Given the description of an element on the screen output the (x, y) to click on. 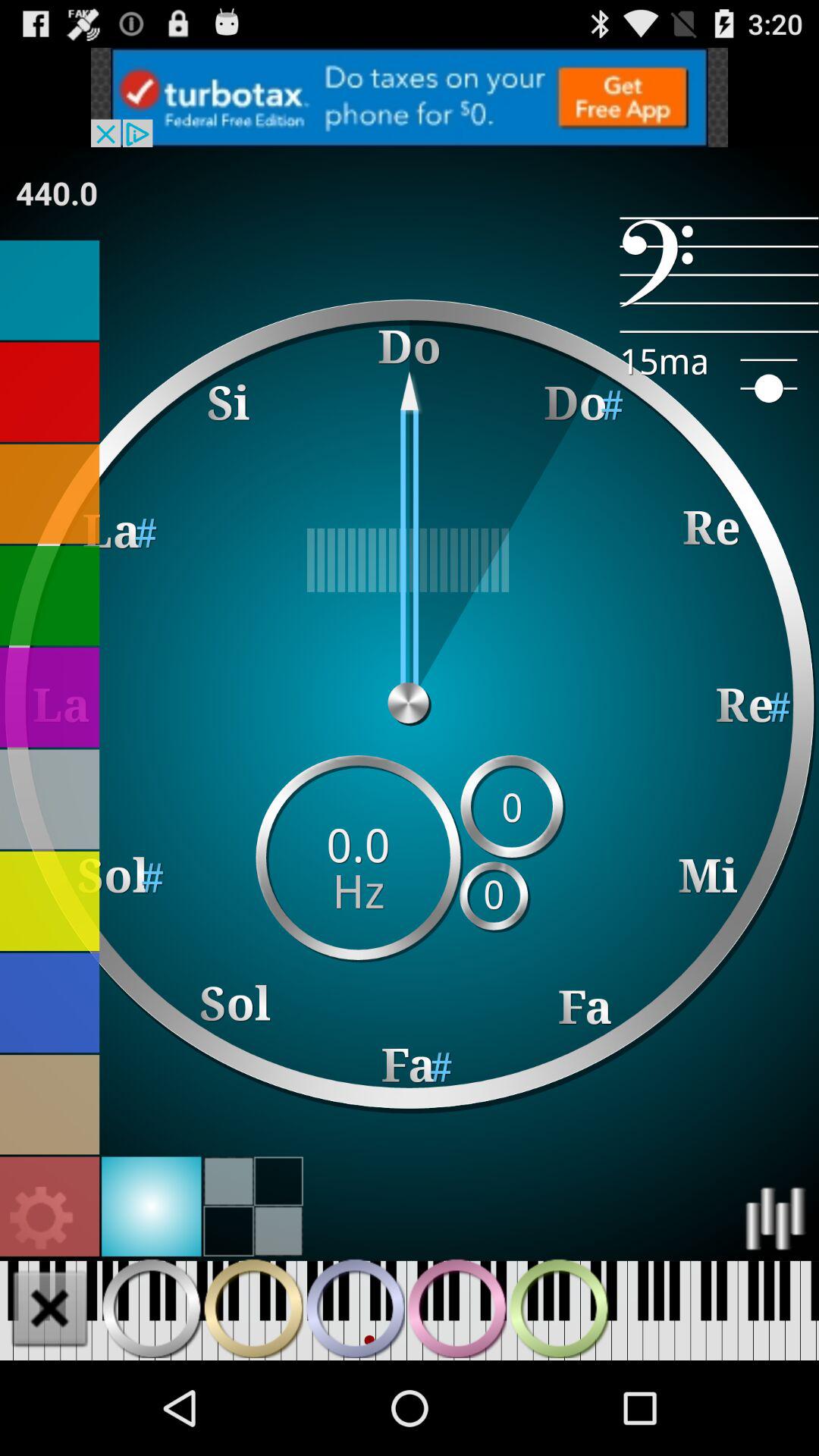
click keys (253, 1308)
